Given the description of an element on the screen output the (x, y) to click on. 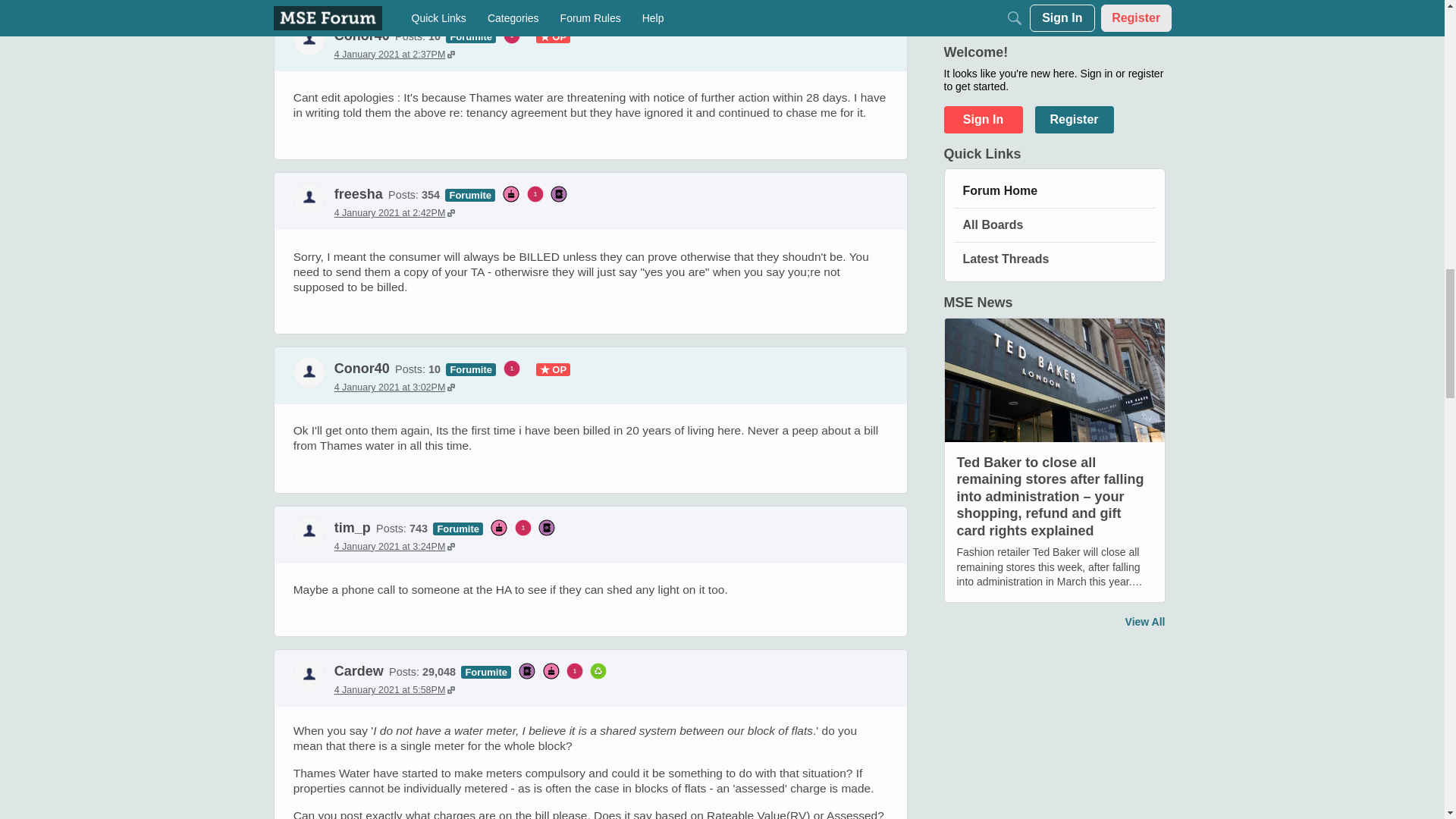
4 January 2021 at 2:37PM (394, 54)
freesha (358, 193)
4 January 2021 at 3:02PM (394, 387)
4 January 2021 at 2:42PM (394, 213)
Conor40 (362, 368)
Conor40 (362, 35)
Forumite (470, 35)
Conor40 (309, 39)
